Given the description of an element on the screen output the (x, y) to click on. 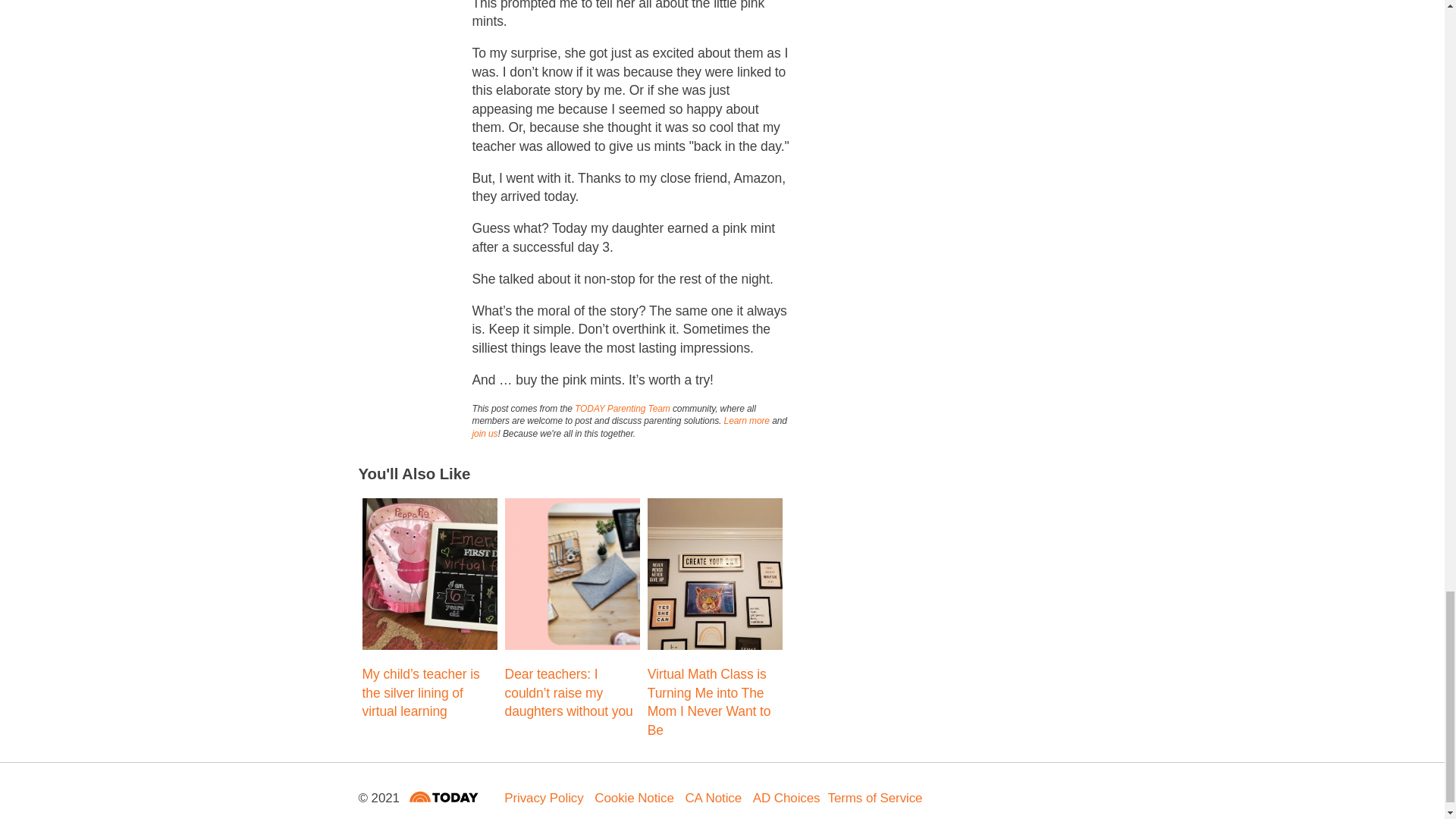
Learn more (746, 420)
TODAY Parenting Team (622, 407)
join us (484, 433)
